Given the description of an element on the screen output the (x, y) to click on. 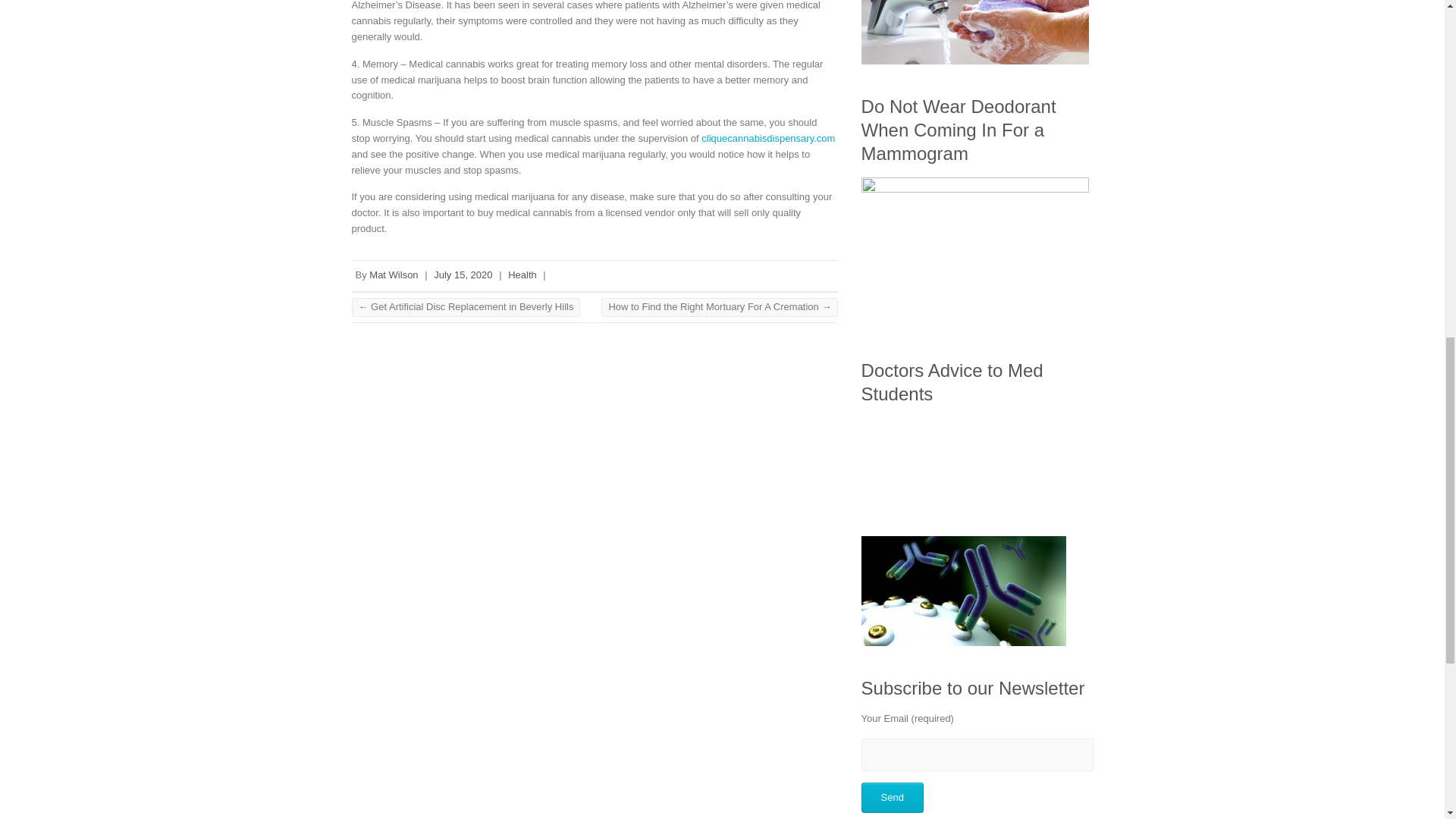
Mat Wilson (393, 274)
Health (522, 274)
Send (892, 797)
July 15, 2020 (462, 274)
7:20 pm (462, 274)
Send (892, 797)
cliquecannabisdispensary.com (767, 138)
